Given the description of an element on the screen output the (x, y) to click on. 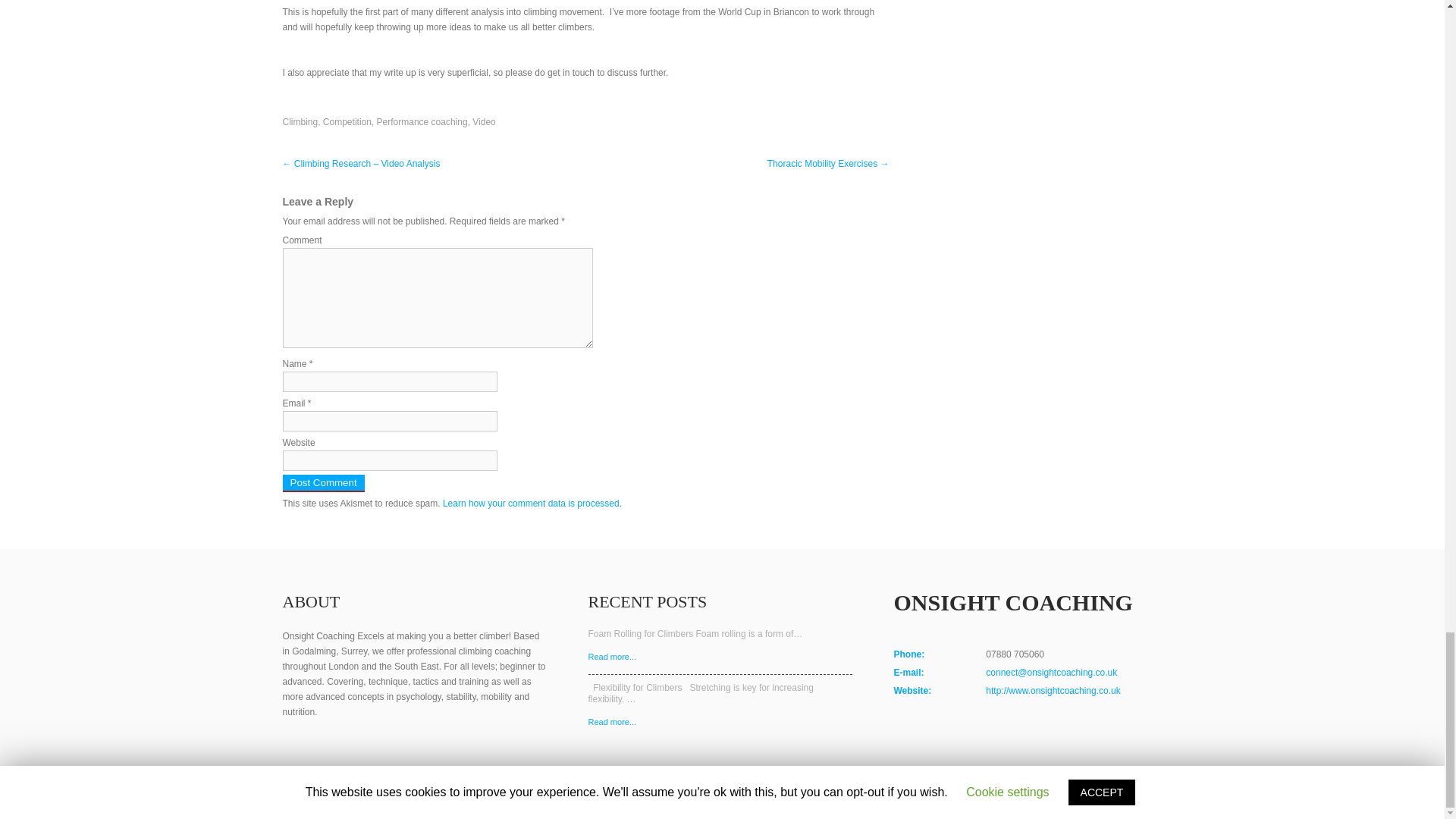
Performance coaching (422, 122)
Climbing (299, 122)
Competition (347, 122)
Video (483, 122)
Post Comment (323, 483)
Learn how your comment data is processed (531, 502)
Post Comment (323, 483)
